Given the description of an element on the screen output the (x, y) to click on. 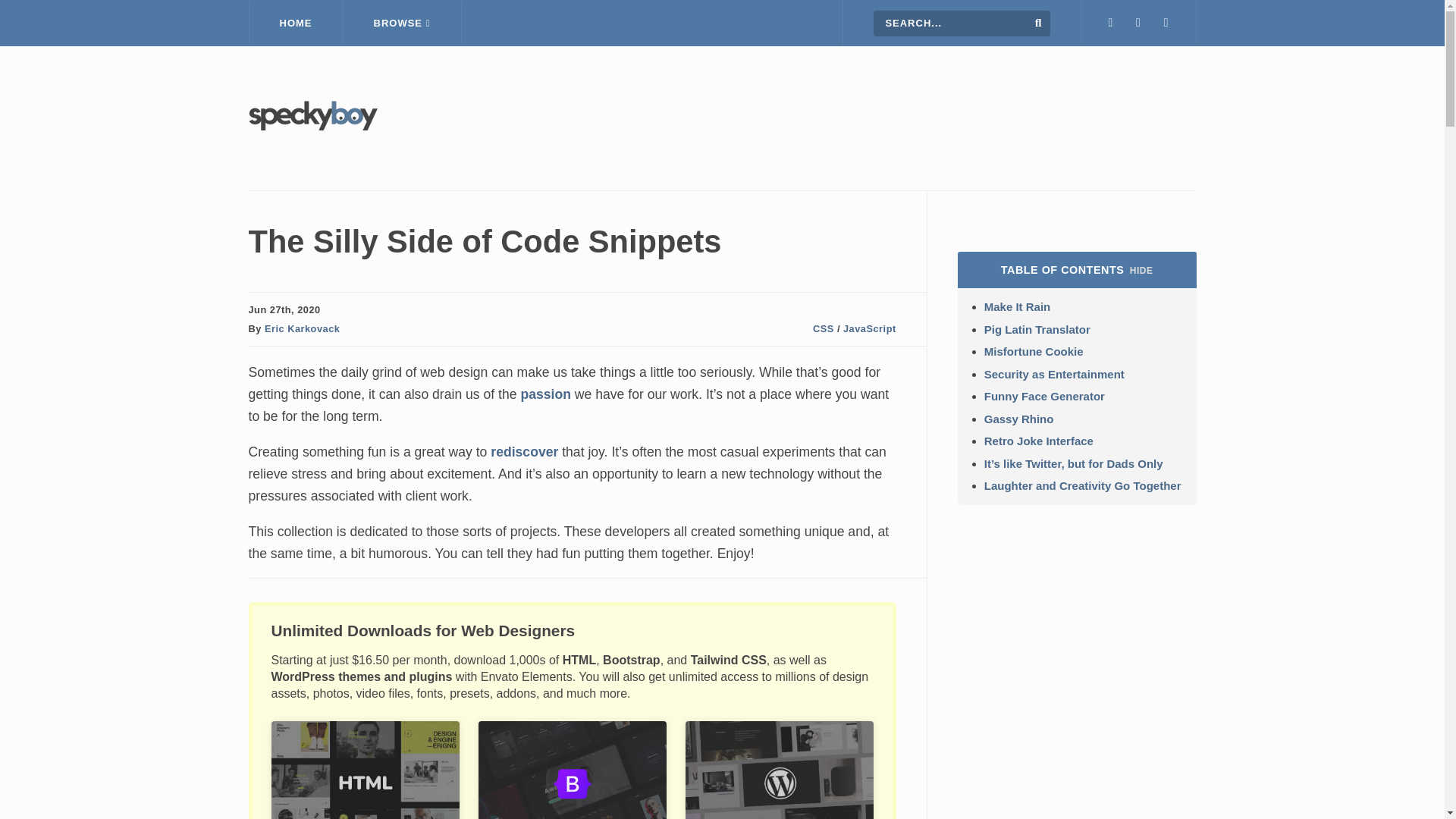
Posts by Eric Karkovack (301, 328)
OUR FACEBOOK PAGE (1138, 23)
OUR TWITTER PAGE (1110, 23)
RSS FEED (1166, 23)
Search (1038, 22)
HOME (295, 22)
Speckyboy Design Magazine (312, 125)
BROWSE (401, 22)
